Given the description of an element on the screen output the (x, y) to click on. 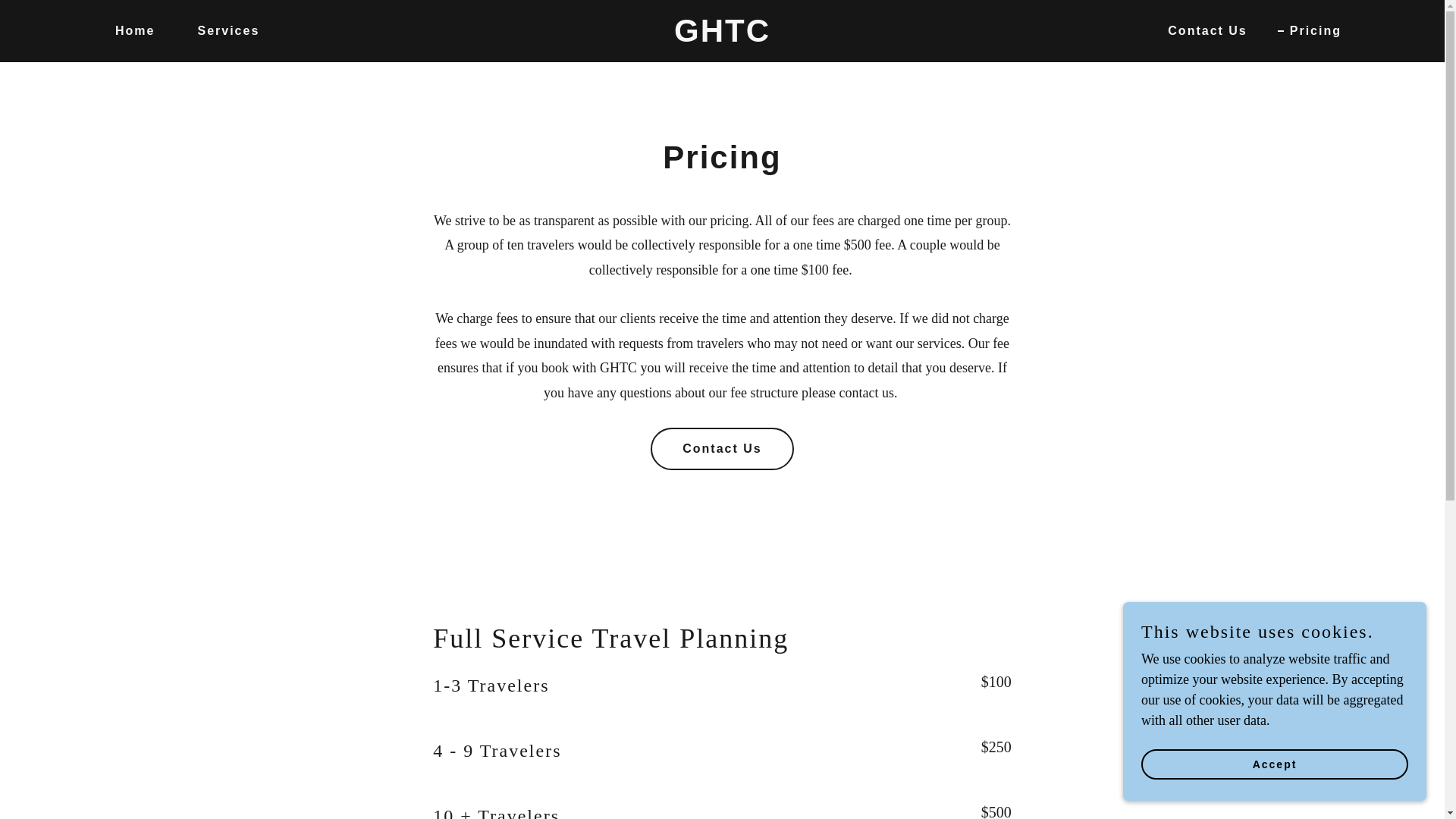
Contact Us (1200, 31)
Home (128, 31)
GHTC (721, 37)
GHTC (721, 37)
Accept (1274, 764)
Contact Us (721, 448)
Services (221, 31)
Pricing (1309, 31)
